Given the description of an element on the screen output the (x, y) to click on. 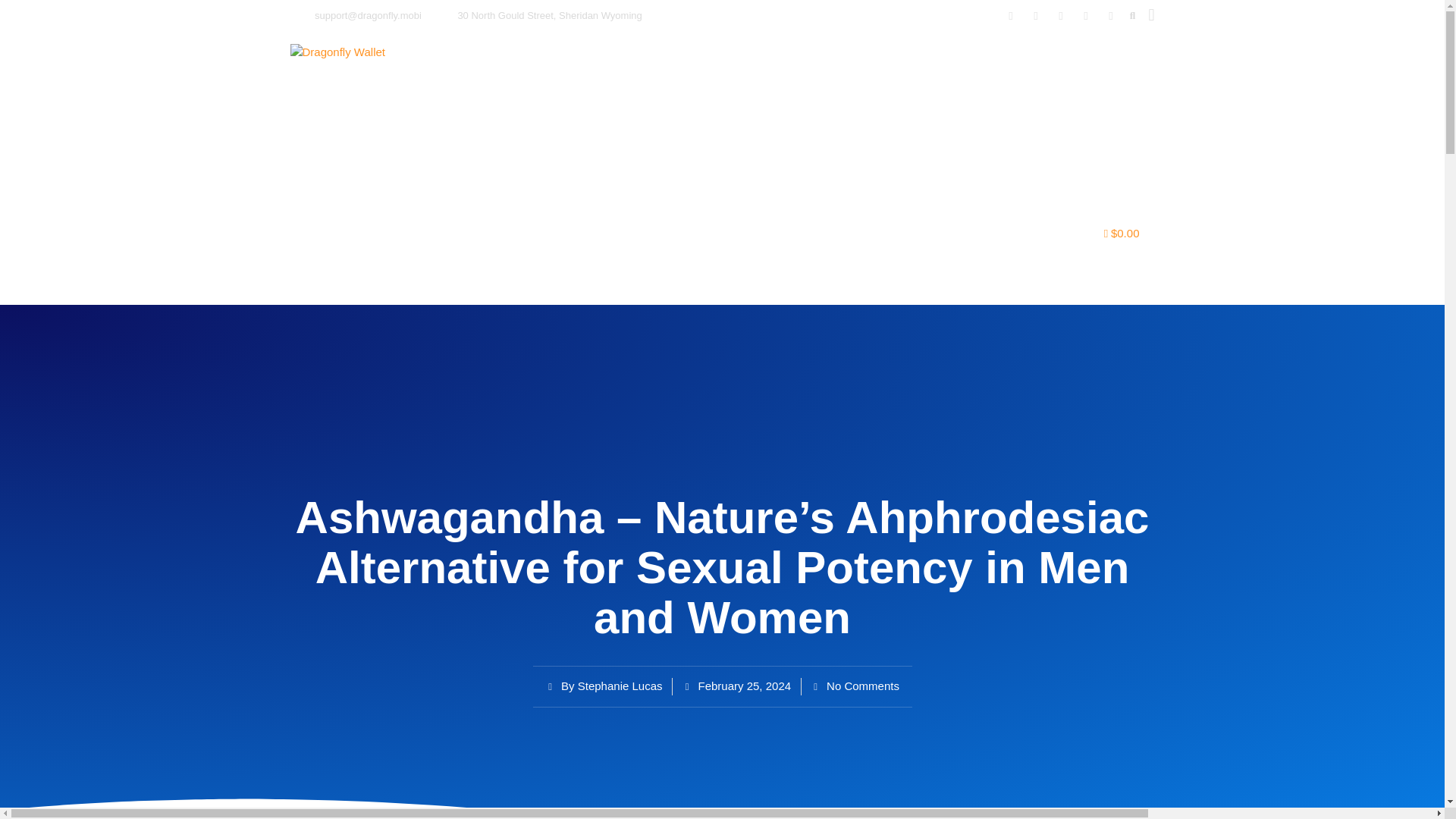
ABOUT US (641, 233)
Start shopping (1121, 233)
HOME (561, 233)
NEWS (866, 233)
No Comments (854, 686)
REWARDS (733, 233)
CONTACT US (1018, 233)
By Stephanie Lucas (603, 686)
February 25, 2024 (737, 686)
SHOP (932, 233)
